Given the description of an element on the screen output the (x, y) to click on. 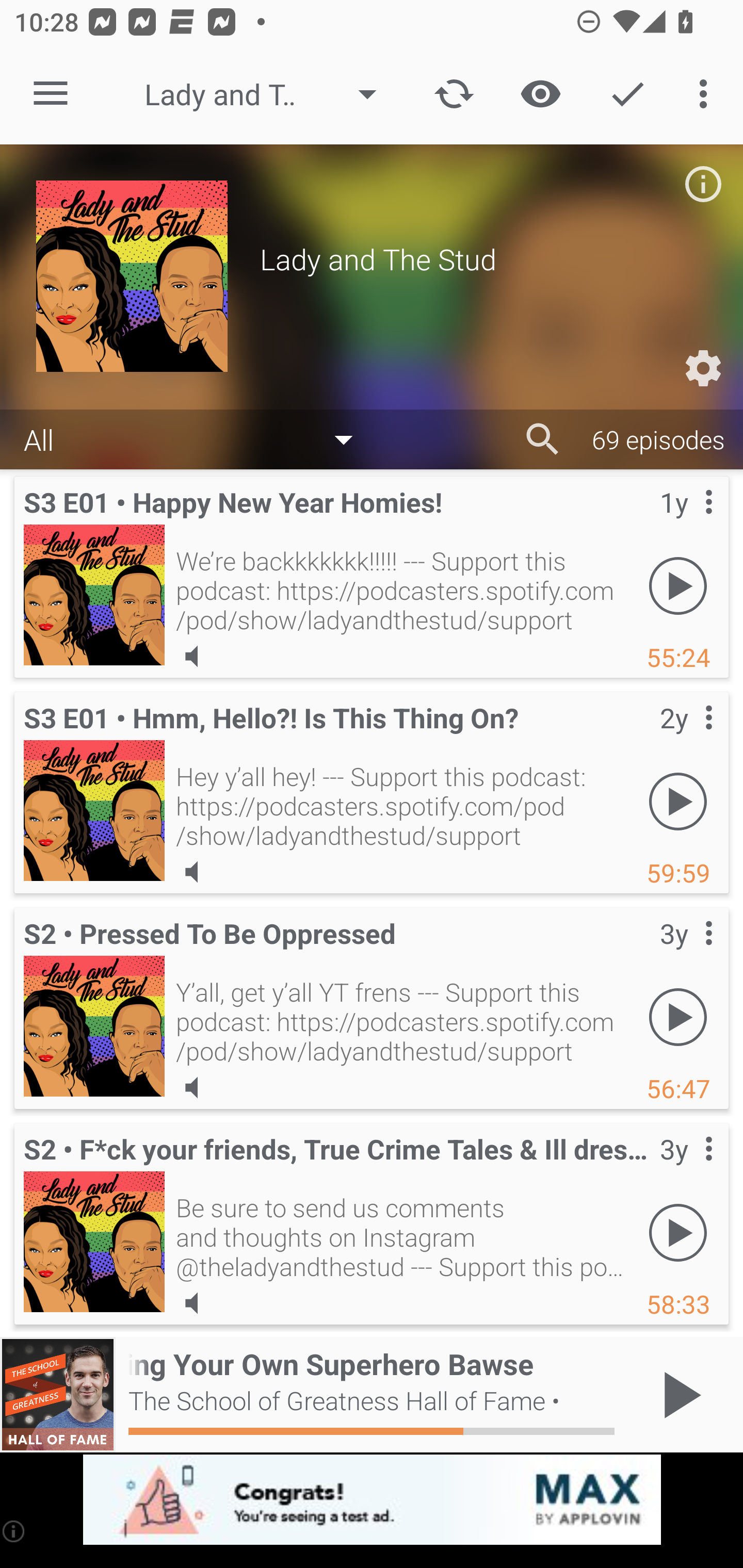
Open navigation sidebar (50, 93)
Update (453, 93)
Show / Hide played content (540, 93)
Action Mode (626, 93)
More options (706, 93)
Lady and The Stud (270, 94)
Podcast description (703, 184)
Custom Settings (703, 368)
Search (542, 439)
All (197, 438)
Contextual menu (685, 522)
Happy New Year Homies! (93, 594)
Play (677, 585)
Contextual menu (685, 738)
Hmm, Hello?! Is This Thing On? (93, 810)
Play (677, 801)
Contextual menu (685, 954)
Pressed To Be Oppressed (93, 1026)
Play (677, 1016)
Contextual menu (685, 1169)
Play (677, 1232)
Play / Pause (677, 1394)
app-monetization (371, 1500)
(i) (14, 1531)
